Given the description of an element on the screen output the (x, y) to click on. 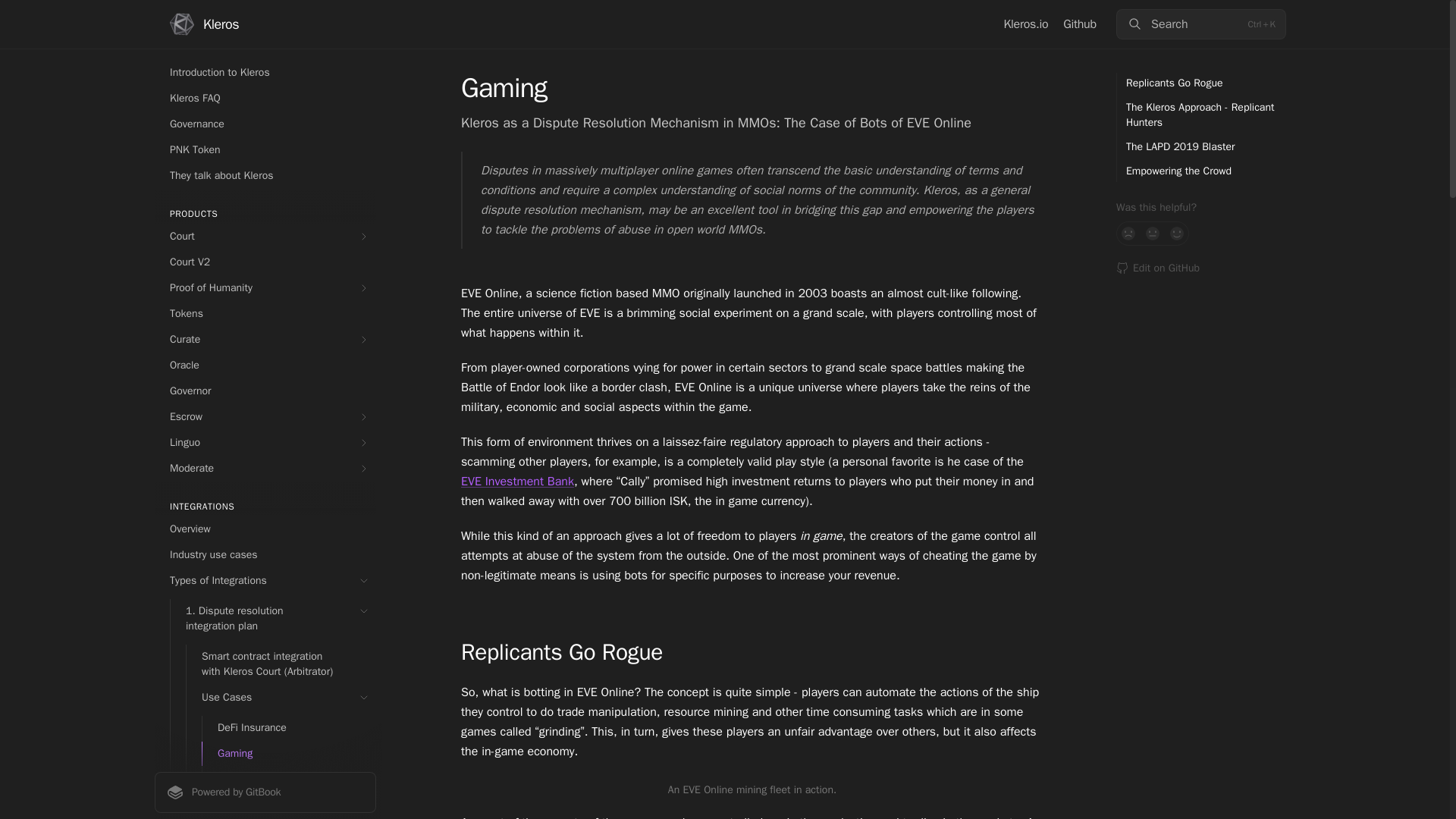
Linguo (264, 442)
Governor (264, 391)
Governance (264, 124)
Kleros FAQ (264, 98)
Tokens (264, 313)
Introduction to Kleros (264, 72)
Curate (264, 339)
Kleros (204, 24)
PNK Token (264, 150)
Oracle (264, 364)
Court V2 (264, 262)
No (1128, 233)
Court (264, 236)
Escrow (264, 416)
Proof of Humanity (264, 288)
